Given the description of an element on the screen output the (x, y) to click on. 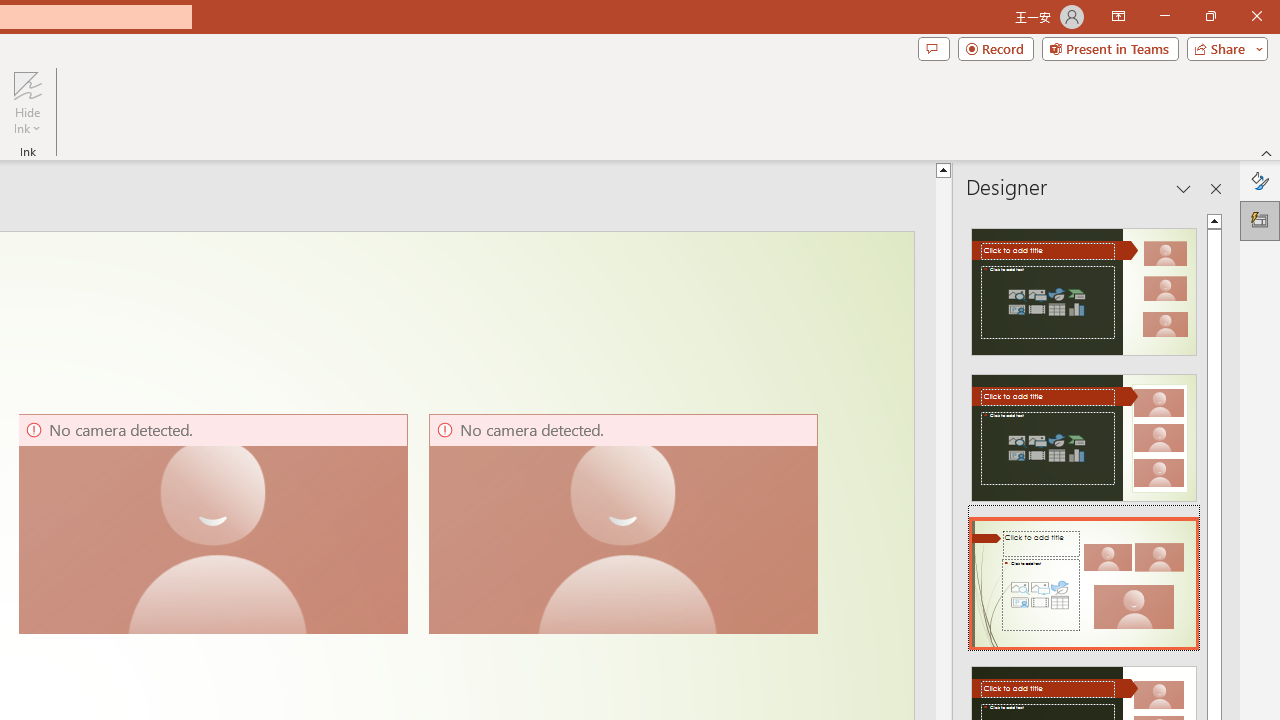
Camera 3, No camera detected. (623, 524)
Recommended Design: Design Idea (1083, 286)
Format Background (1260, 180)
